Given the description of an element on the screen output the (x, y) to click on. 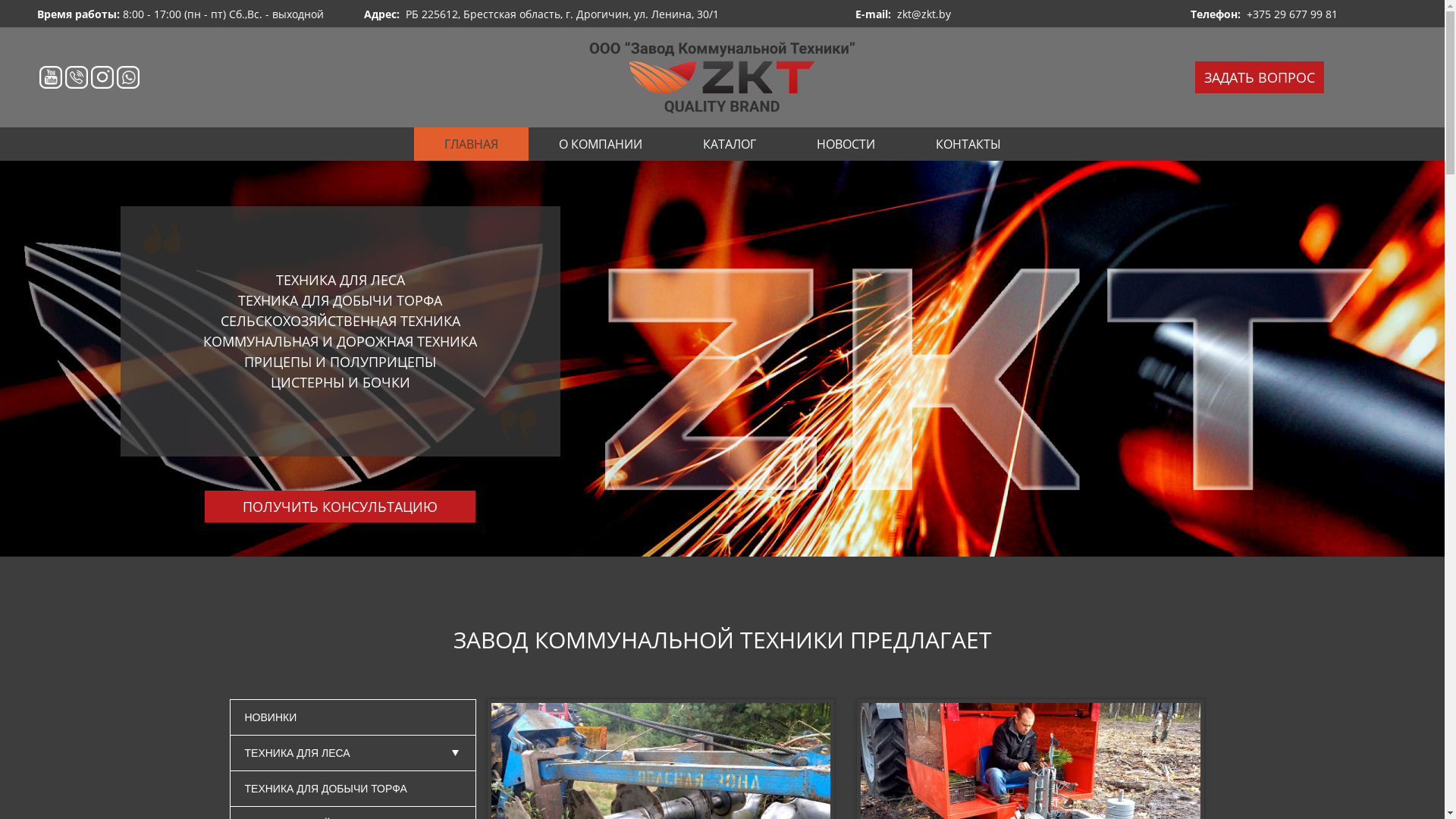
zkt@zkt.by Element type: text (923, 13)
+375 29 677 99 81 Element type: text (1291, 13)
